Given the description of an element on the screen output the (x, y) to click on. 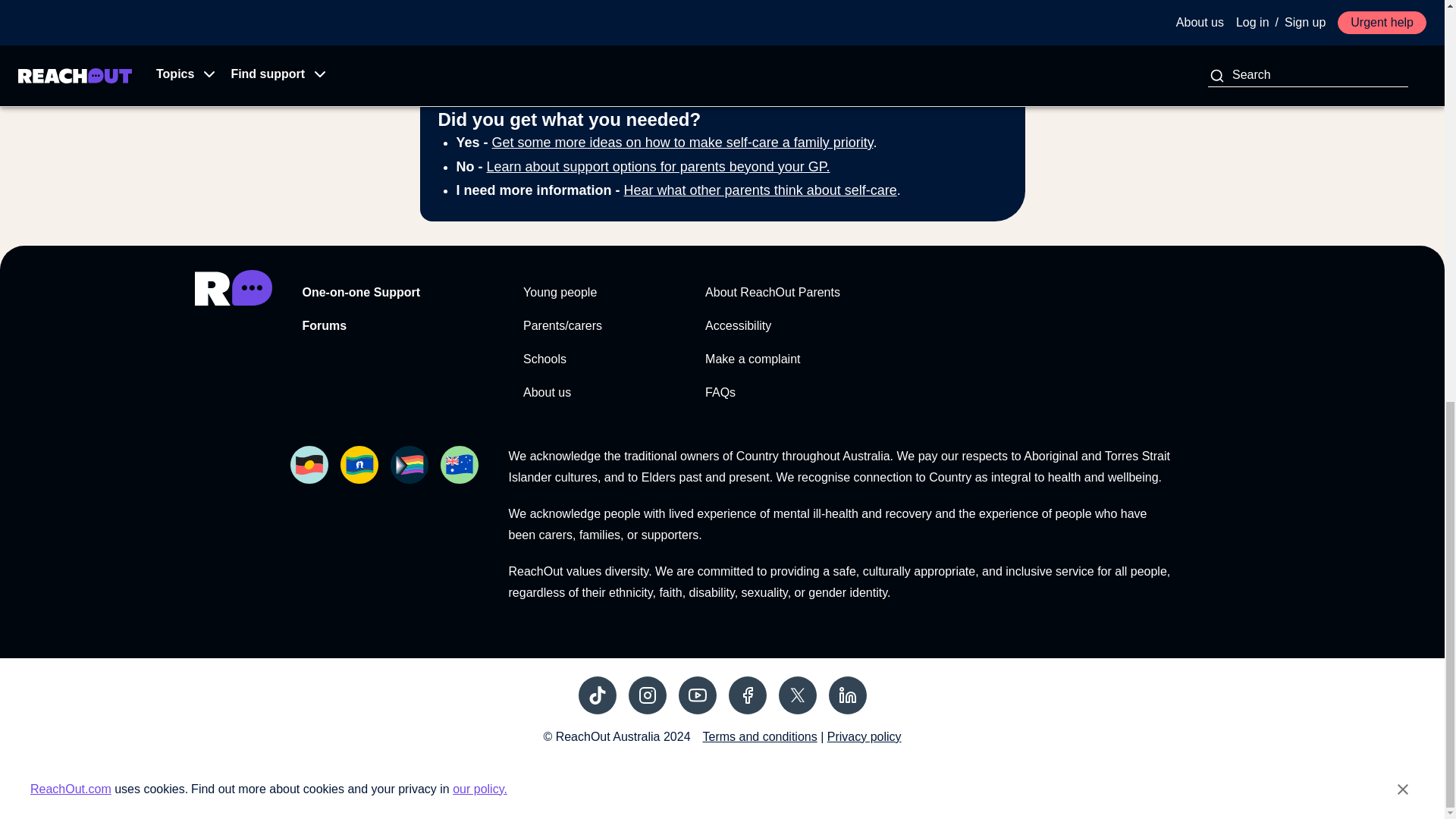
Forums (323, 325)
Schools (544, 359)
Young people (559, 292)
Hear what other parents think about self-care (760, 190)
Learn about support options for parents beyond your GP. (657, 166)
Read the transcript (471, 54)
One-on-one Support (360, 292)
